Given the description of an element on the screen output the (x, y) to click on. 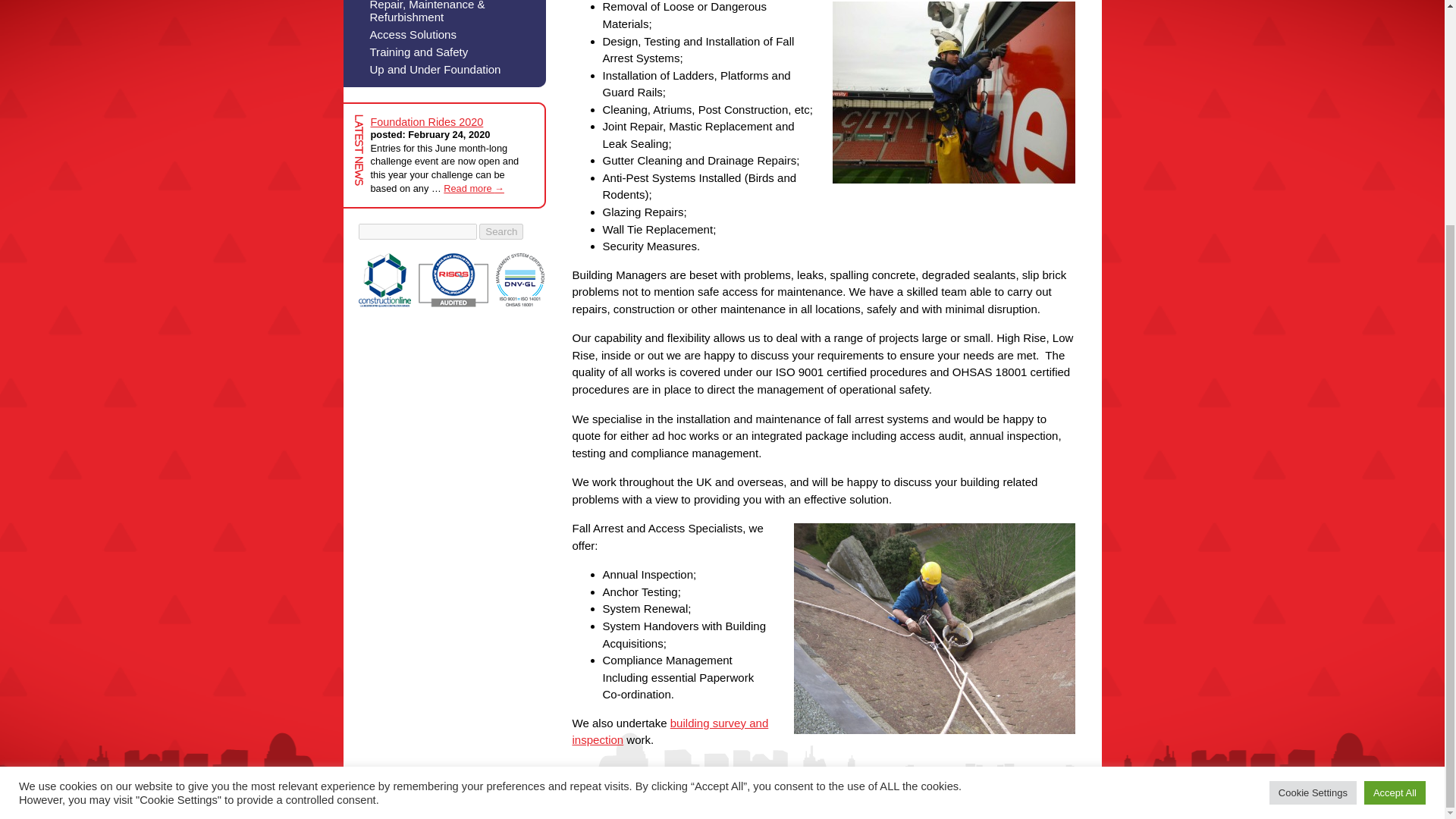
Building Maintenance (933, 628)
Search (500, 231)
Permanent Link to Foundation Rides 2020 (426, 121)
Home (811, 807)
Stoke City Repairs (953, 92)
building survey and inspection (670, 731)
Affiliates (451, 280)
Inspections and Surveys (670, 731)
Access Solutions (442, 31)
